Given the description of an element on the screen output the (x, y) to click on. 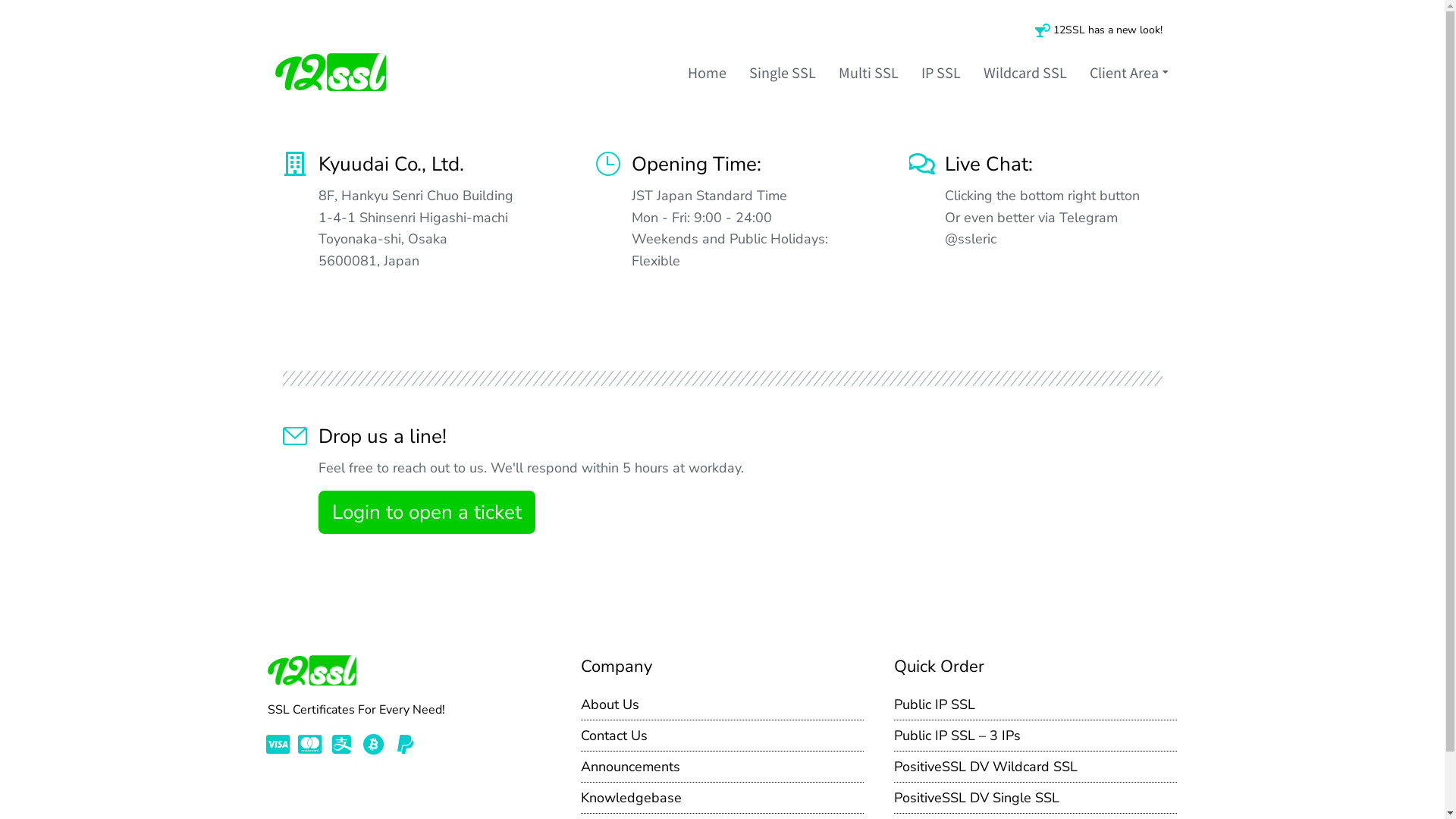
Multi SSL Element type: text (868, 71)
Wildcard SSL Element type: text (1024, 71)
Home Element type: text (706, 71)
Opening Time: Element type: text (696, 163)
Announcements Element type: text (721, 767)
Drop us a line! Element type: text (382, 436)
Login to open a ticket Element type: text (426, 512)
IP SSL Element type: text (940, 71)
Kyuudai Co., Ltd. Element type: text (391, 163)
Contact Us Element type: text (721, 735)
PositiveSSL DV Wildcard SSL Element type: text (1035, 767)
Public IP SSL Element type: text (1035, 704)
12SSL has a new look! Element type: text (1106, 29)
Knowledgebase Element type: text (721, 798)
PositiveSSL DV Single SSL Element type: text (1035, 798)
About Us Element type: text (721, 704)
Client Area Element type: text (1128, 71)
Single SSL Element type: text (782, 71)
Live Chat: Element type: text (988, 163)
